Given the description of an element on the screen output the (x, y) to click on. 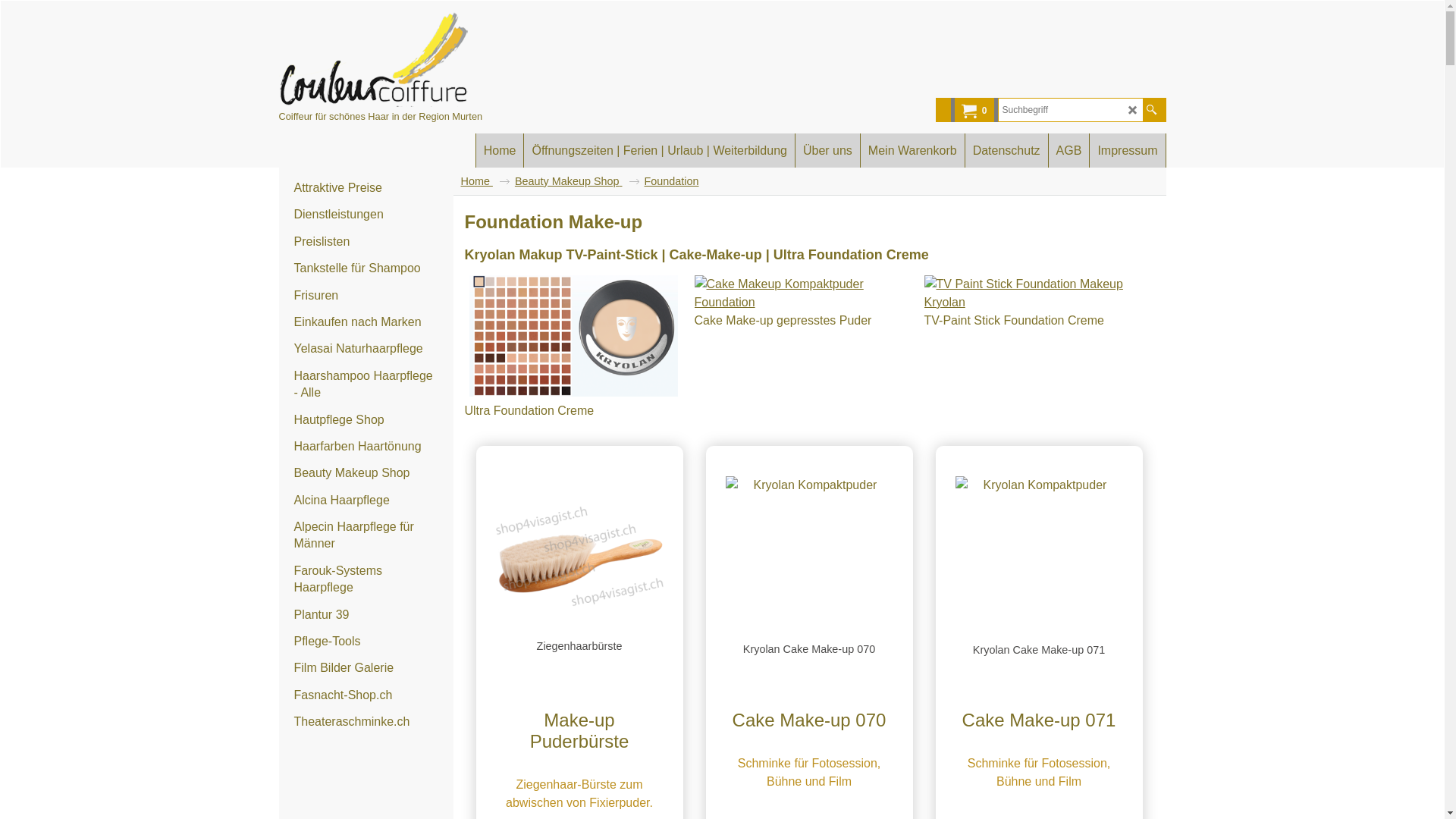
Home Element type: text (500, 150)
Theateraschminke.ch Element type: text (365, 722)
Ultrafoundation Creme Kryiolan Make-up Element type: hover (572, 335)
Farouk-Systems Haarpflege Element type: text (365, 580)
Frisuren Element type: text (365, 295)
Film Bilder Galerie Element type: text (365, 668)
Suche Element type: hover (1151, 109)
Preislisten Element type: text (365, 242)
Plantur 39 Element type: text (365, 615)
Yelasai Naturhaarpflege Element type: text (365, 348)
Cake Make-up 070 Element type: text (808, 719)
Hautpflege Shop Element type: text (365, 420)
Haarshampoo Haarpflege - Alle Element type: text (365, 385)
LD_CANCEL Element type: hover (1132, 110)
Kryolan Kompaktpuder Element type: hover (1039, 558)
Kryolan Cake Make-up 070 Element type: text (808, 589)
Kryolan Kompaktpuder Element type: hover (808, 557)
Datenschutz Element type: text (1006, 150)
Mein Warenkorb Element type: text (912, 150)
Cake Make-up 071 Element type: text (1039, 719)
Alcina Haarpflege Element type: text (365, 500)
Dienstleistungen Element type: text (365, 214)
AGB Element type: text (1068, 150)
Home Element type: text (485, 181)
Impressum Element type: text (1126, 150)
Kryolan Cake Make-up 071 Element type: text (1039, 589)
Beauty Makeup Shop Element type: text (576, 181)
Attraktive Preise Element type: text (365, 188)
Cake Makeup Kompaktpuder Foundation Element type: hover (803, 293)
Einkaufen nach Marken Element type: text (365, 322)
Pflege-Tools Element type: text (365, 641)
Fasnacht-Shop.ch Element type: text (365, 695)
TV Paint Stick Foundation Makeup Kryolan Element type: hover (1033, 293)
Beauty Makeup Shop Element type: text (365, 473)
